Given the description of an element on the screen output the (x, y) to click on. 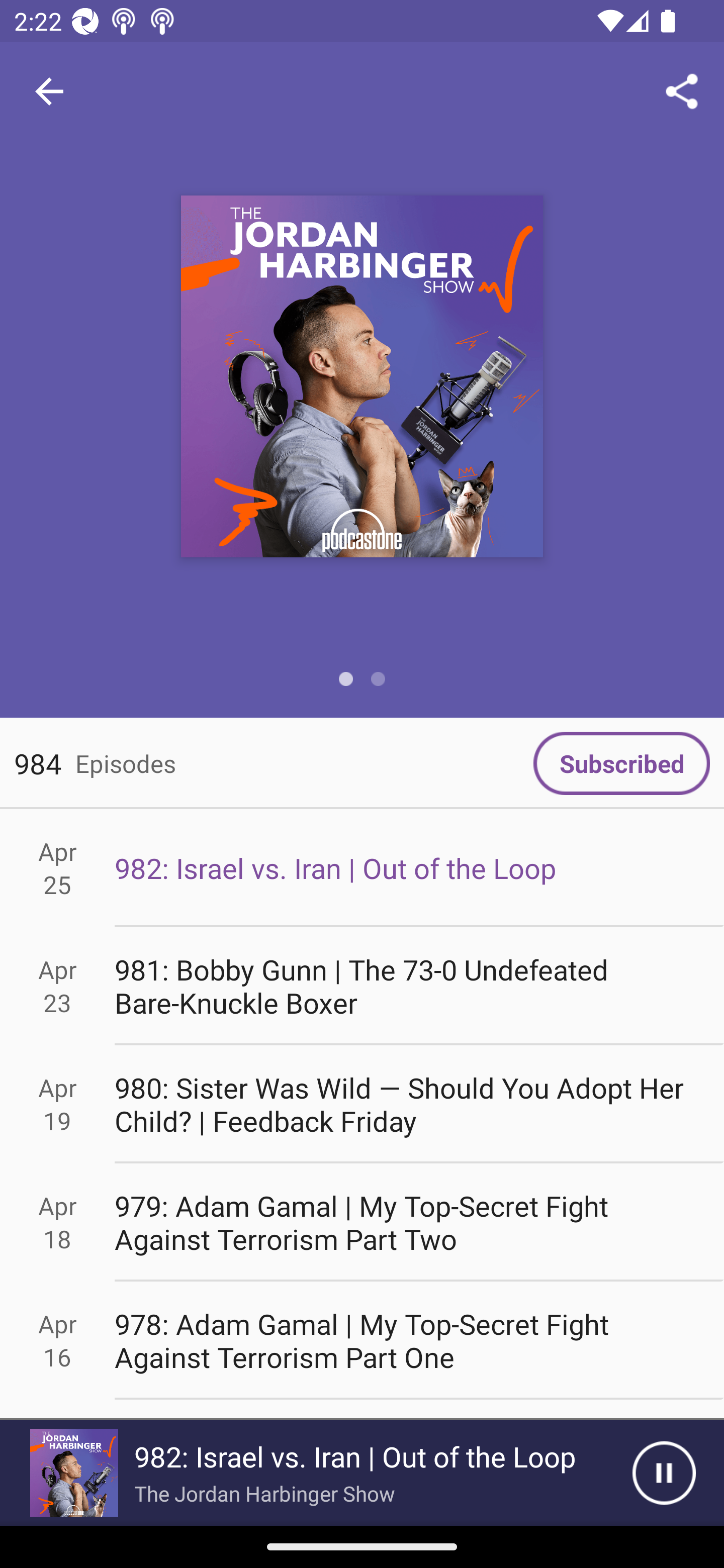
Navigate up (49, 91)
Share... (681, 90)
Subscribed (621, 763)
Apr 25 982: Israel vs. Iran | Out of the Loop (362, 867)
Pause (663, 1472)
